Given the description of an element on the screen output the (x, y) to click on. 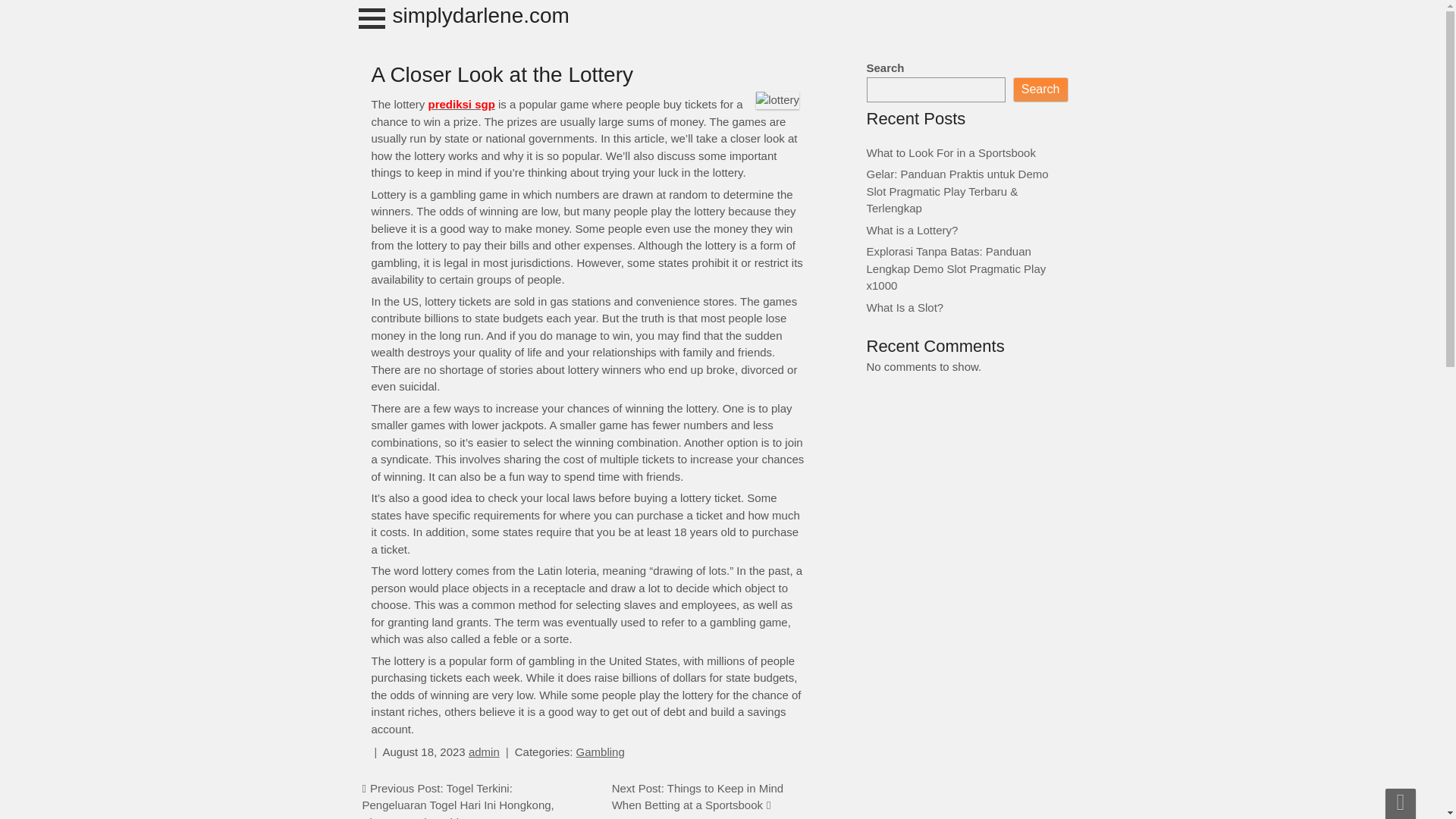
simplydarlene.com (481, 15)
admin (483, 751)
Gambling (600, 751)
prediksi sgp (461, 103)
What is a Lottery? (912, 228)
What to Look For in a Sportsbook (950, 151)
Search (1040, 89)
What Is a Slot? (904, 306)
Posts by admin (483, 751)
